Given the description of an element on the screen output the (x, y) to click on. 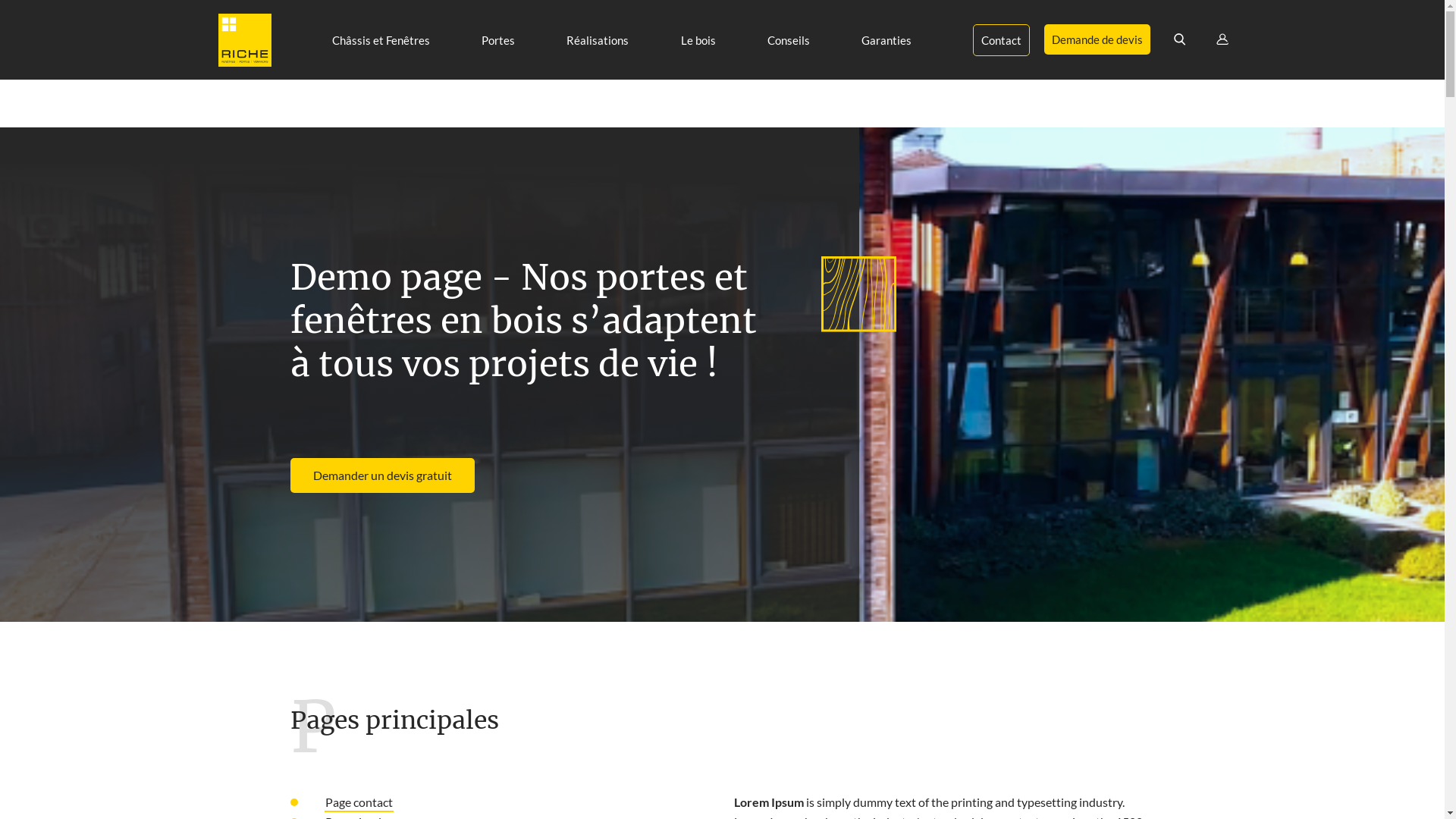
Demande de devis Element type: text (1096, 39)
User Element type: text (1222, 39)
Conseils Element type: text (788, 40)
Demander un devis gratuit Element type: text (381, 475)
Le bois Element type: text (697, 40)
Contact Element type: text (1000, 40)
Garanties Element type: text (886, 40)
Rechercher Element type: text (1179, 39)
Portes Element type: text (497, 40)
Page contact Element type: text (358, 802)
